Given the description of an element on the screen output the (x, y) to click on. 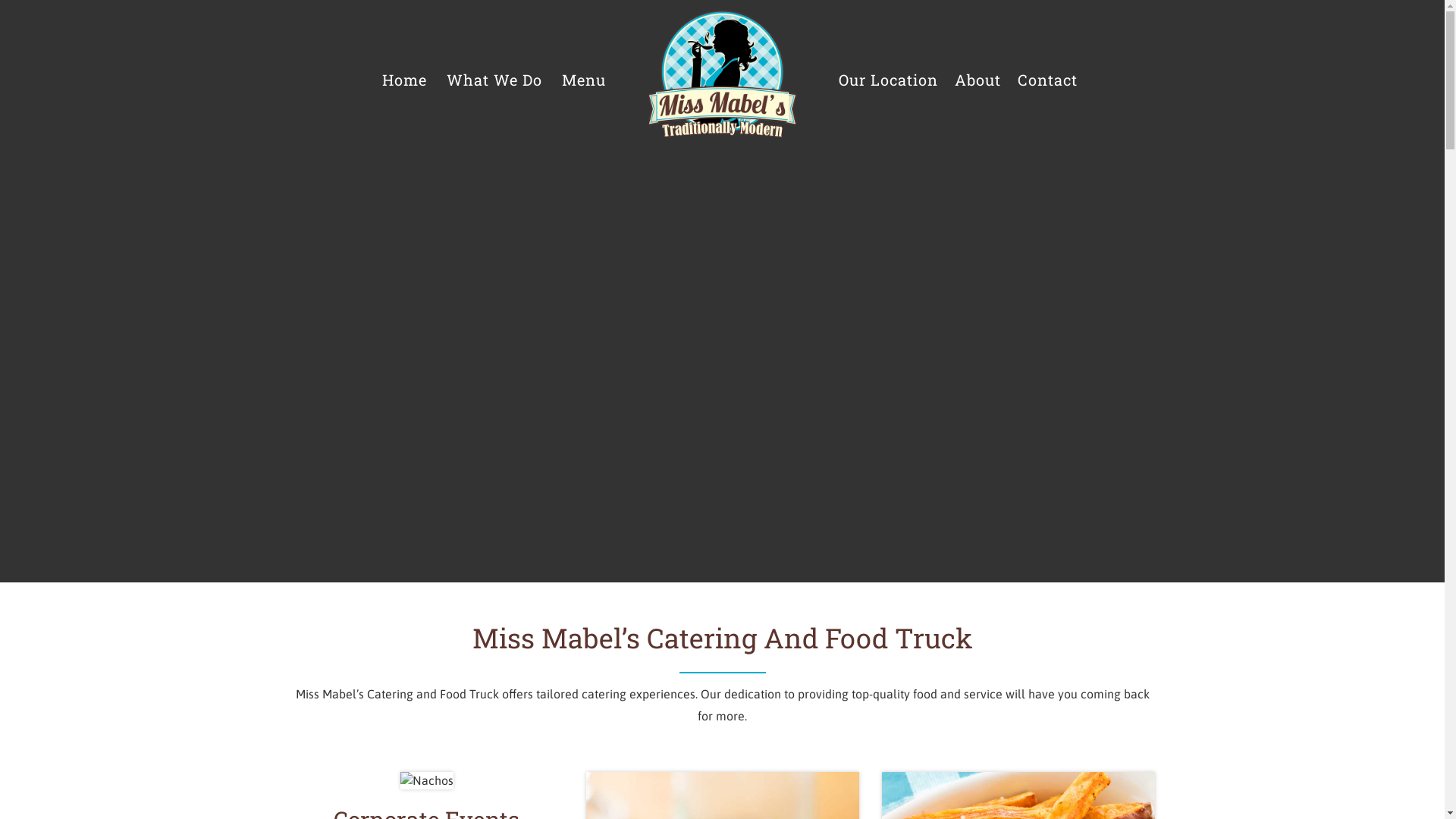
Nachos Element type: hover (426, 780)
Home Element type: text (404, 79)
What We Do Element type: text (494, 79)
Our Location Element type: text (888, 79)
Contact Element type: text (1047, 79)
About Element type: text (977, 79)
Menu Element type: text (583, 79)
